Given the description of an element on the screen output the (x, y) to click on. 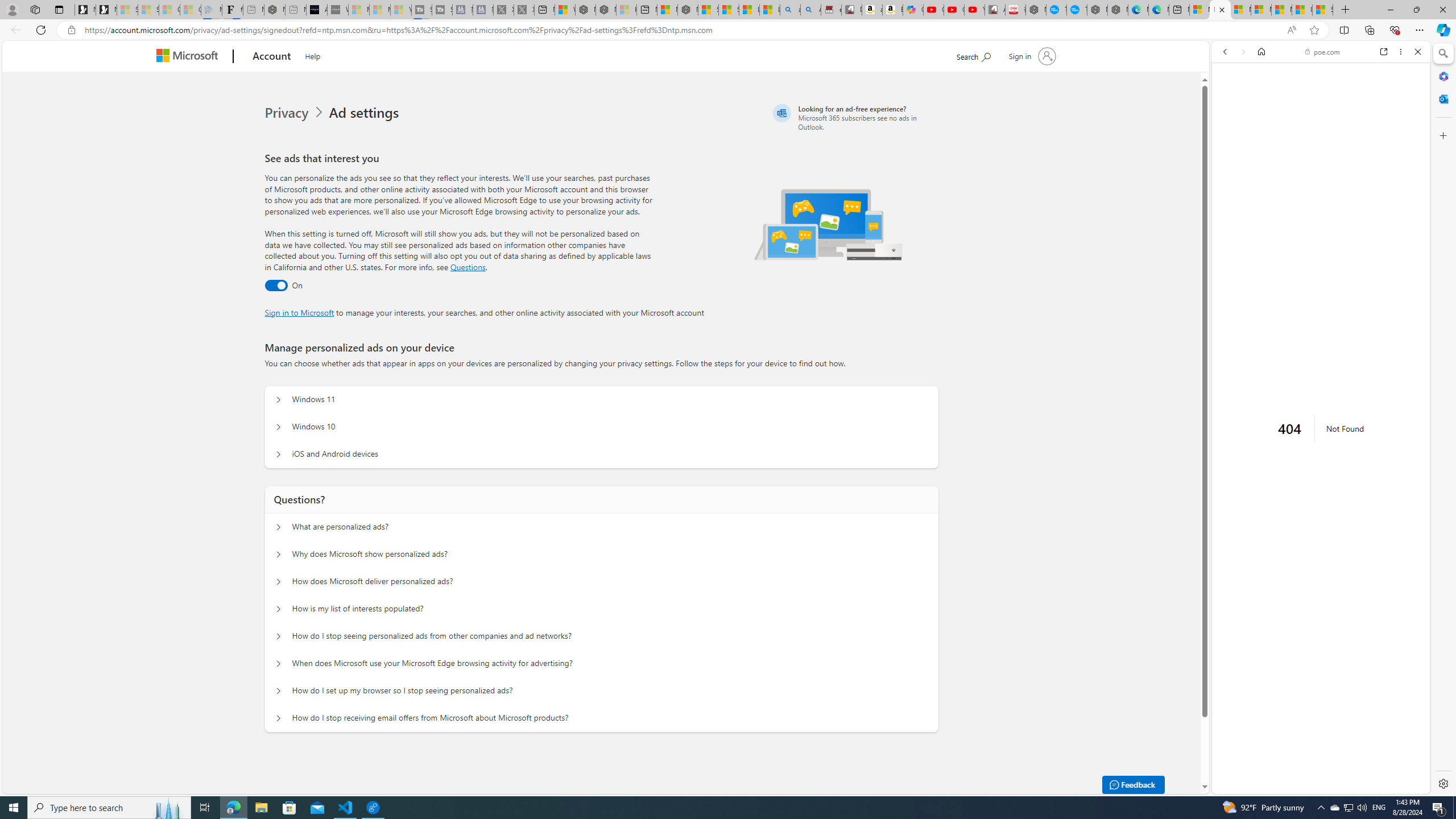
Microsoft (189, 56)
poe.com (1323, 51)
Learn how your ads are chosen (1322, 429)
Poe (1315, 647)
Preferences (1403, 129)
Poe - Fast, Helpful AI Chat (1315, 173)
